Given the description of an element on the screen output the (x, y) to click on. 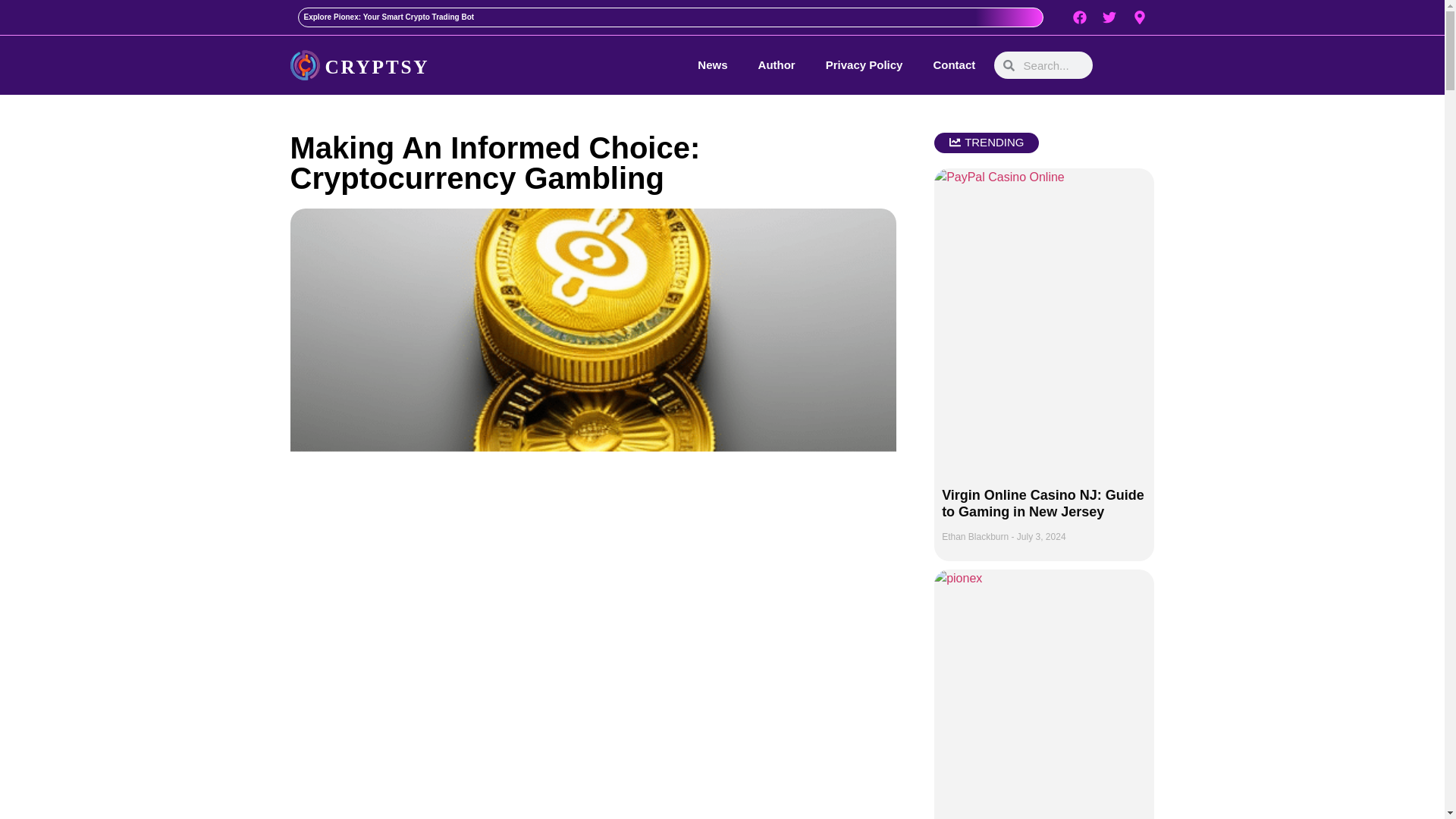
Privacy Policy (863, 64)
Explore Pionex: Your Smart Crypto Trading Bot (388, 17)
Contact (954, 64)
Author (776, 64)
